Given the description of an element on the screen output the (x, y) to click on. 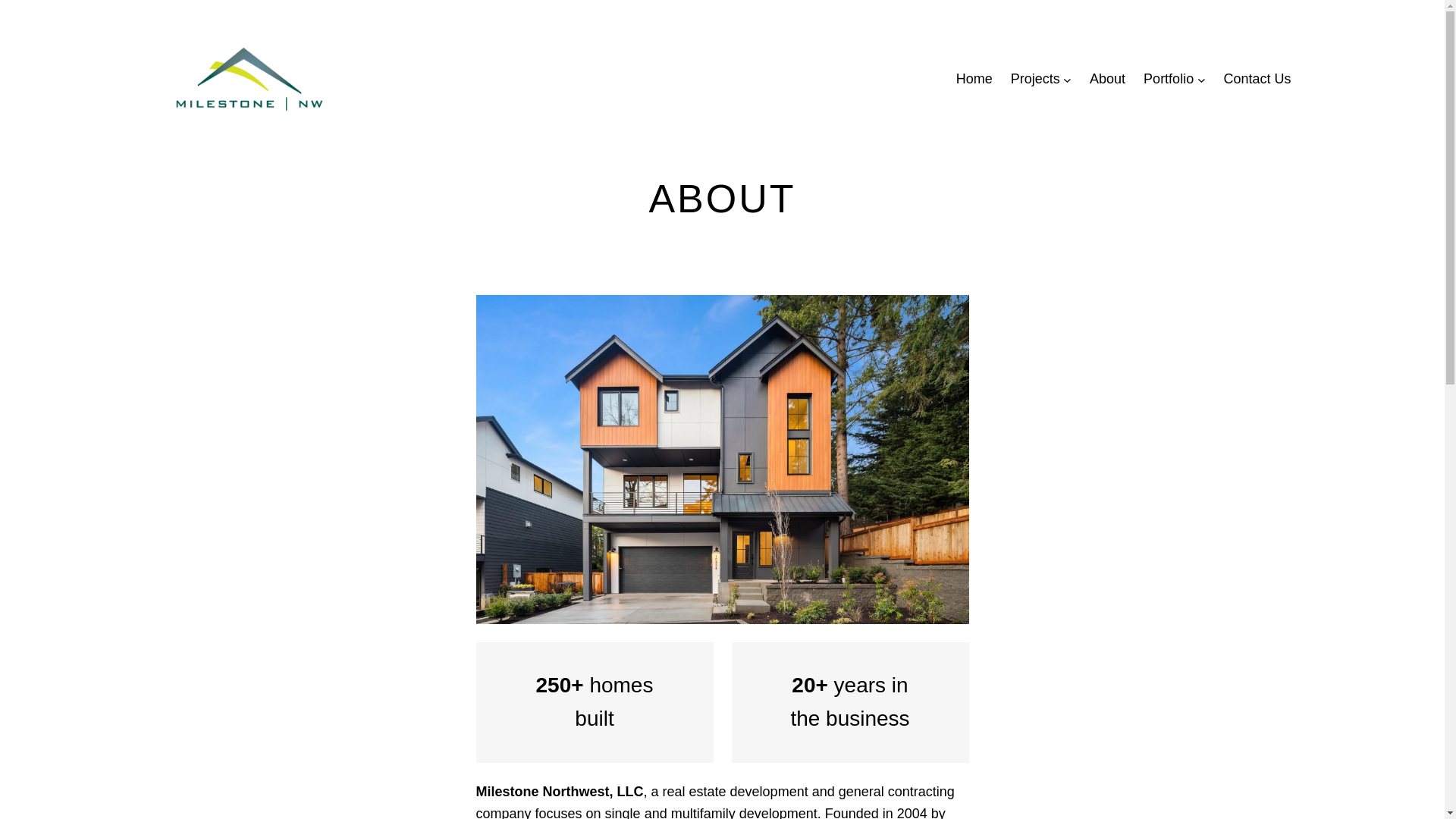
Projects (1034, 78)
Contact Us (1256, 78)
About (1107, 78)
Home (974, 78)
Portfolio (1167, 78)
